Given the description of an element on the screen output the (x, y) to click on. 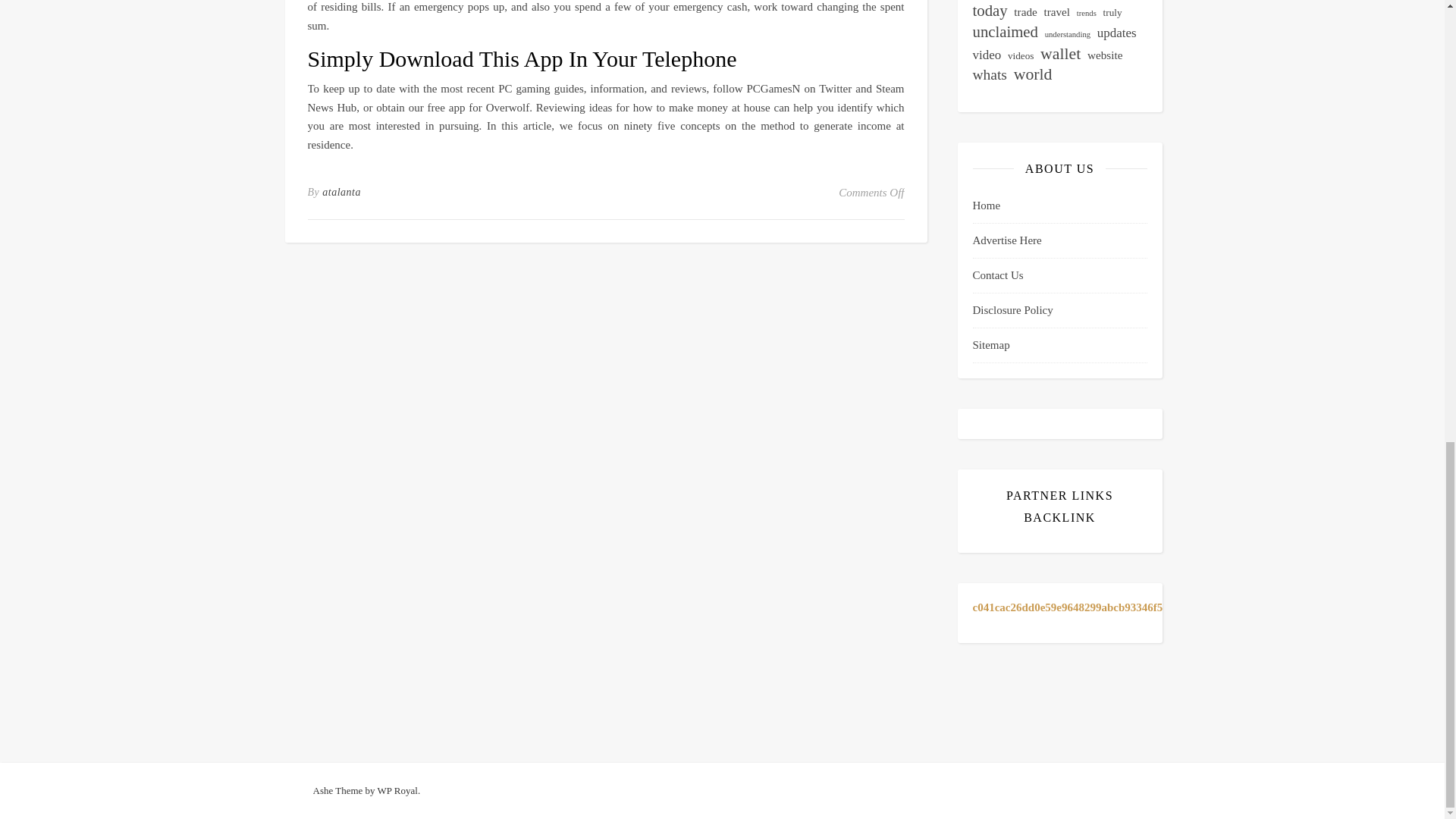
Posts by atalanta (341, 191)
atalanta (341, 191)
